Given the description of an element on the screen output the (x, y) to click on. 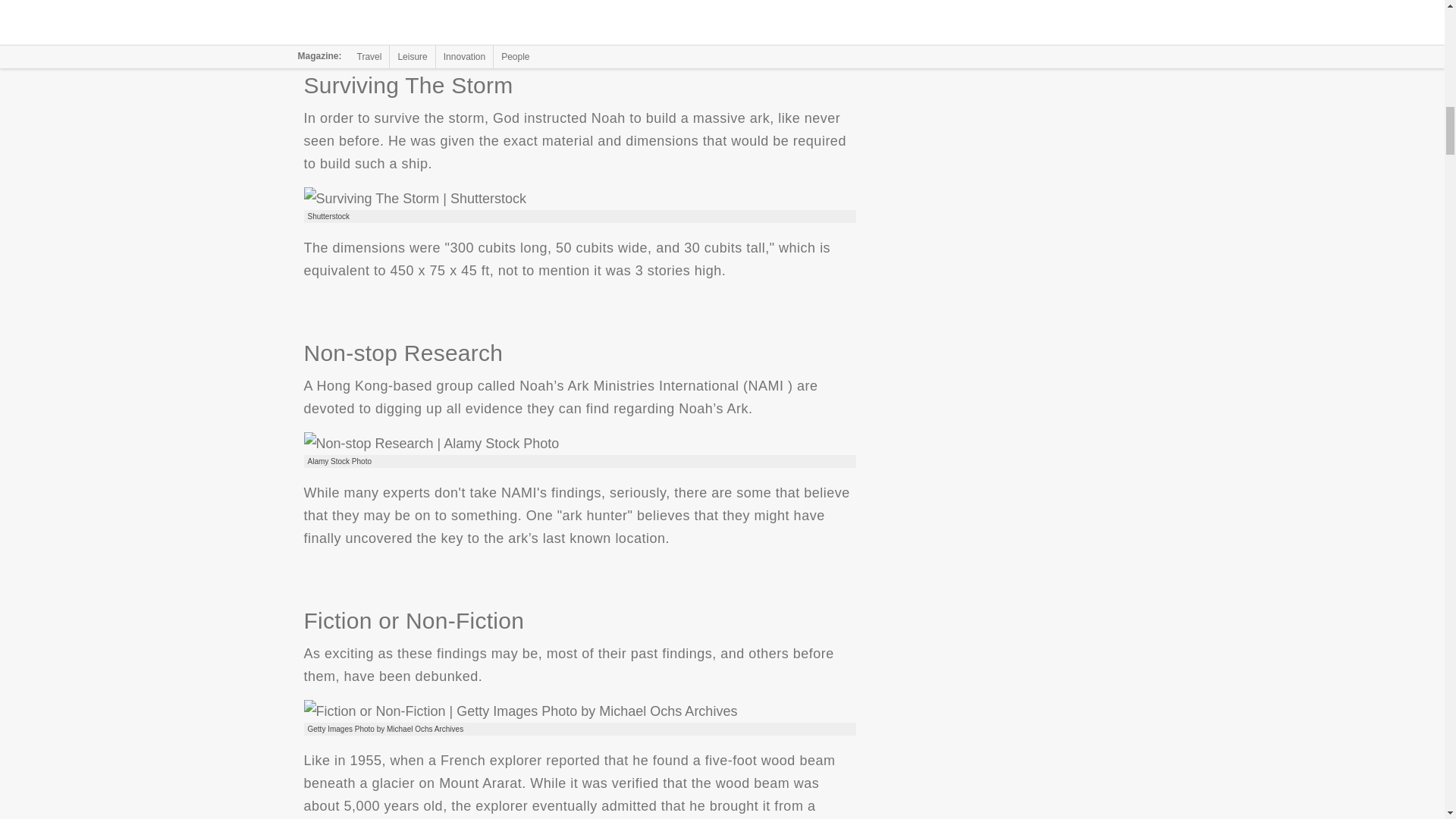
Surviving The Storm (413, 198)
Non-stop Research (430, 443)
Fiction or Non-Fiction (519, 711)
